Given the description of an element on the screen output the (x, y) to click on. 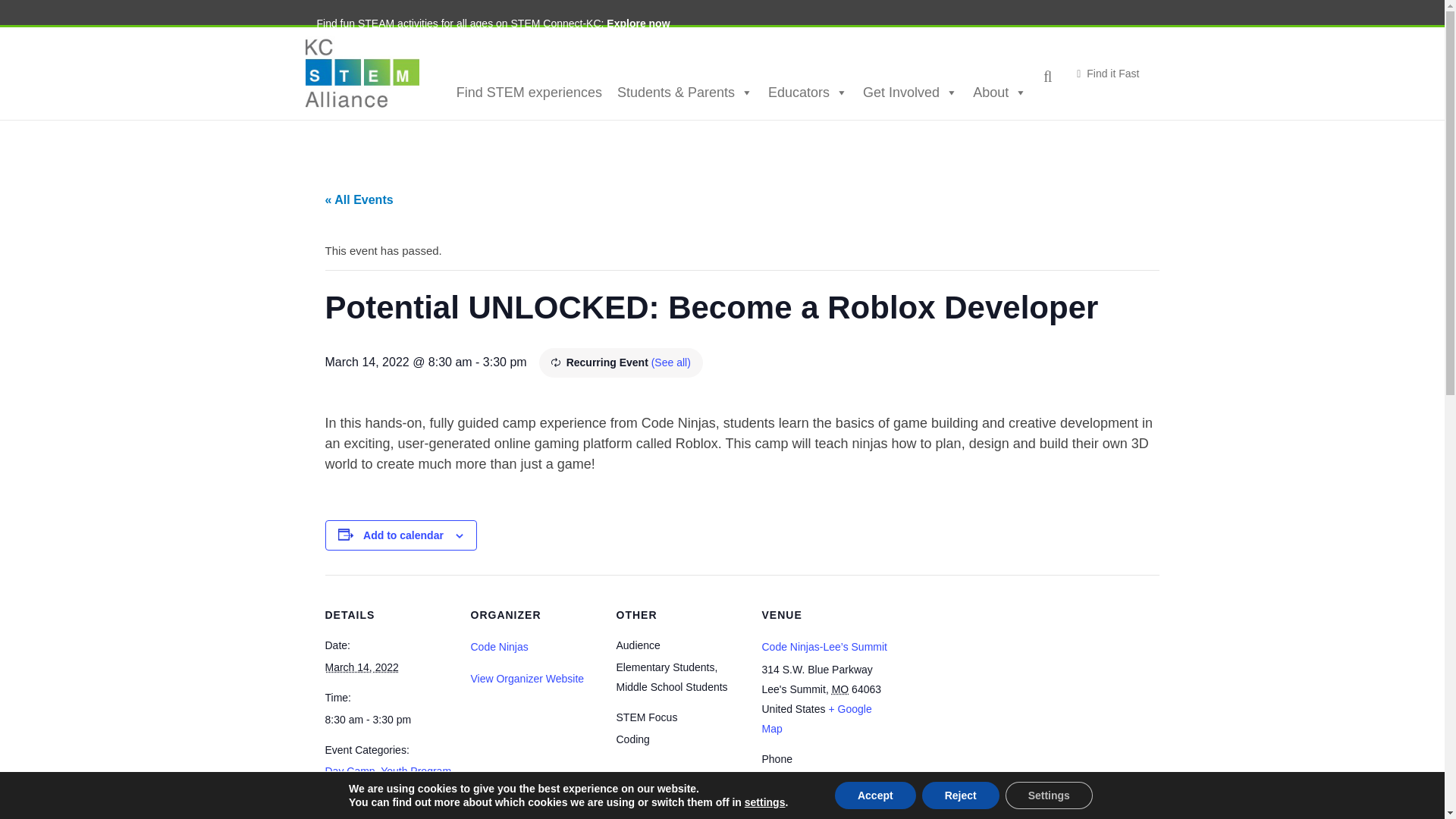
Explore now (638, 23)
Educators (808, 91)
Missouri (839, 689)
Code Ninjas (498, 646)
Find STEM experiences (529, 91)
2022-03-14 (387, 719)
2022-03-14 (360, 666)
Get Involved (910, 91)
Click to view a Google Map (815, 718)
